Given the description of an element on the screen output the (x, y) to click on. 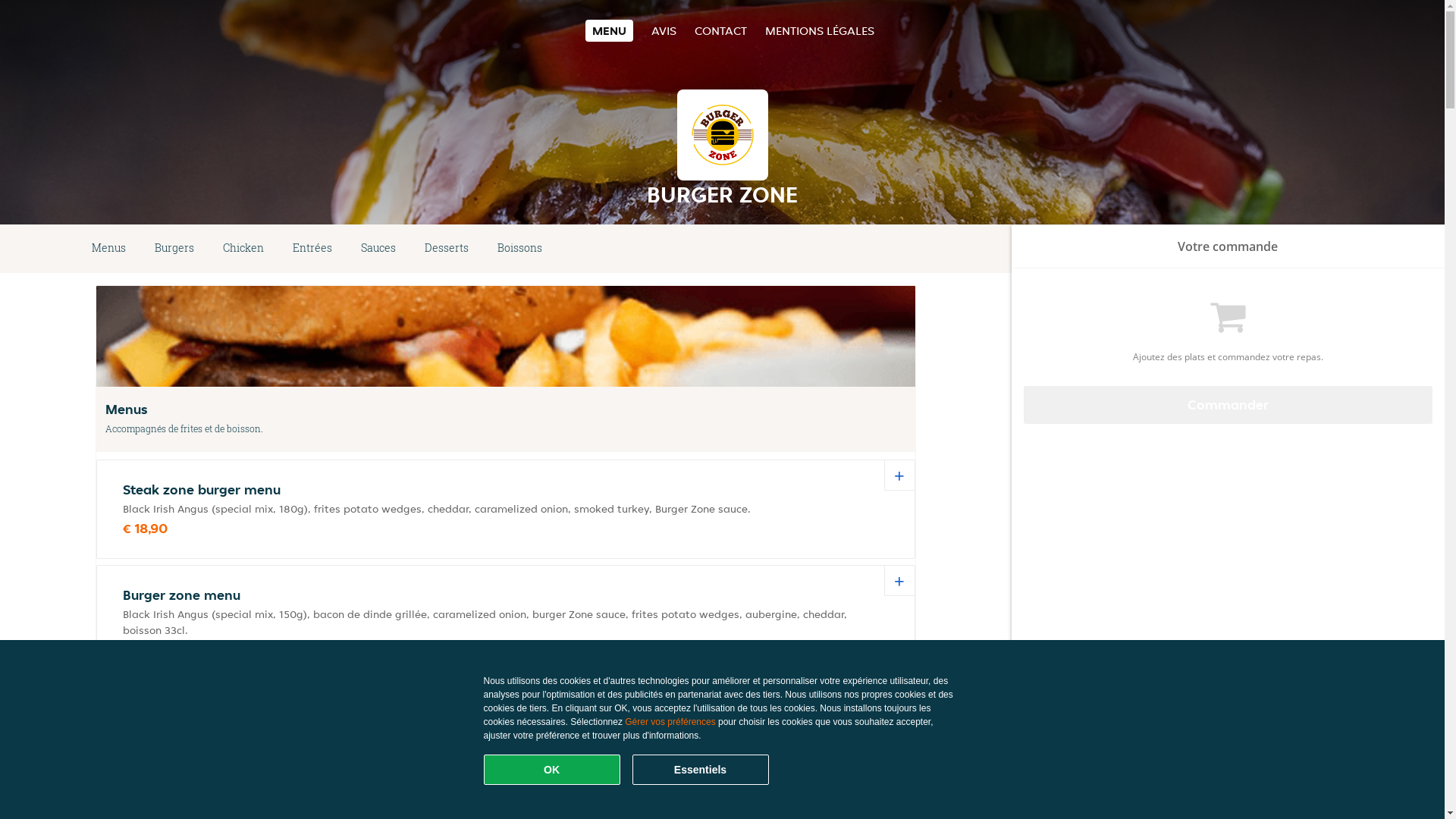
Desserts Element type: text (446, 248)
Essentiels Element type: text (700, 769)
AVIS Element type: text (663, 30)
Boissons Element type: text (519, 248)
OK Element type: text (551, 769)
MENU Element type: text (609, 30)
Burgers Element type: text (174, 248)
Menus Element type: text (108, 248)
CONTACT Element type: text (720, 30)
Chicken Element type: text (243, 248)
Sauces Element type: text (378, 248)
Commander Element type: text (1228, 404)
